Given the description of an element on the screen output the (x, y) to click on. 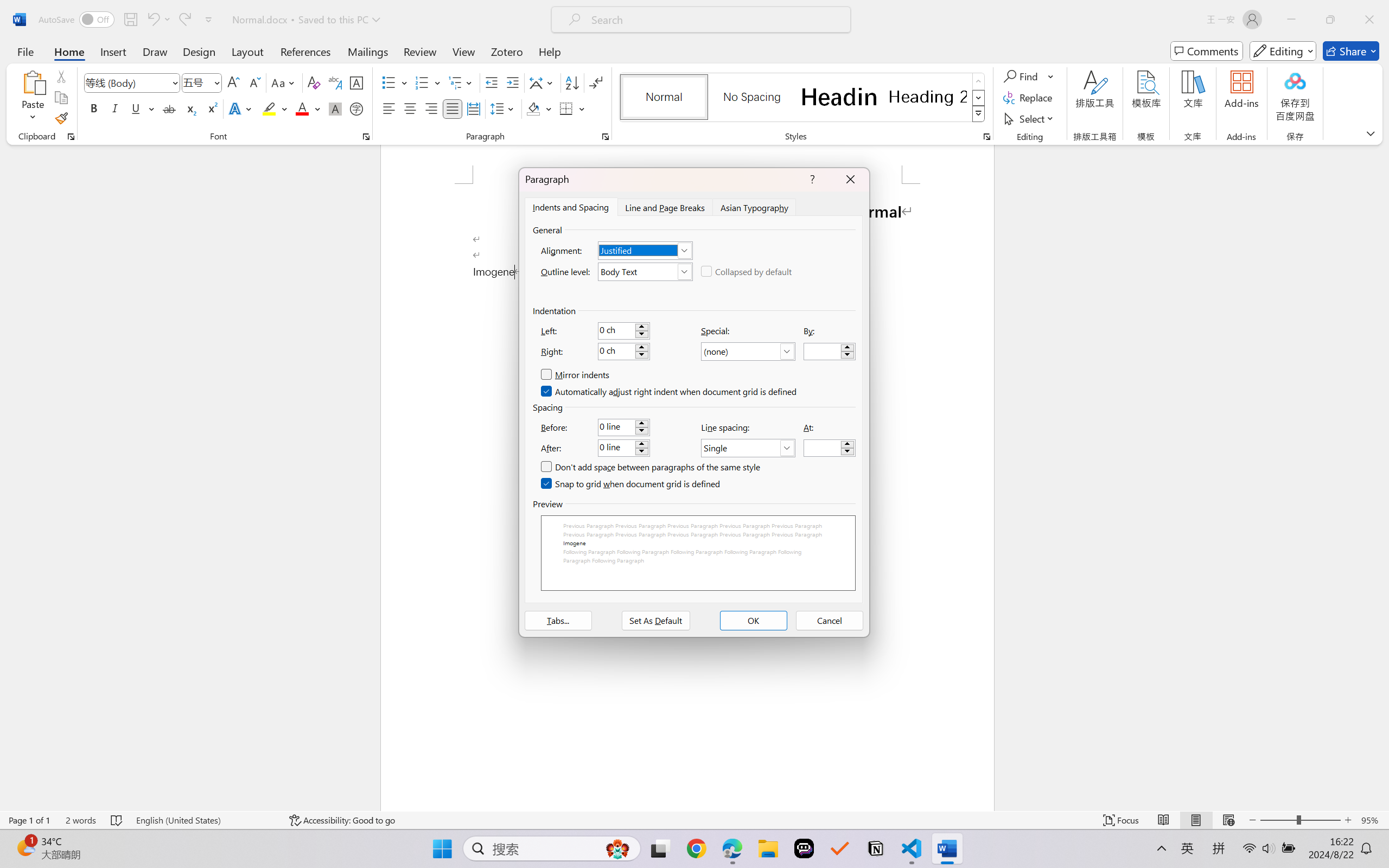
Bold (94, 108)
Cancel (829, 620)
Heading 1 (839, 96)
Class: MsoCommandBar (694, 819)
Align Left (388, 108)
Zoom 95% (1372, 819)
Decrease Indent (491, 82)
